Given the description of an element on the screen output the (x, y) to click on. 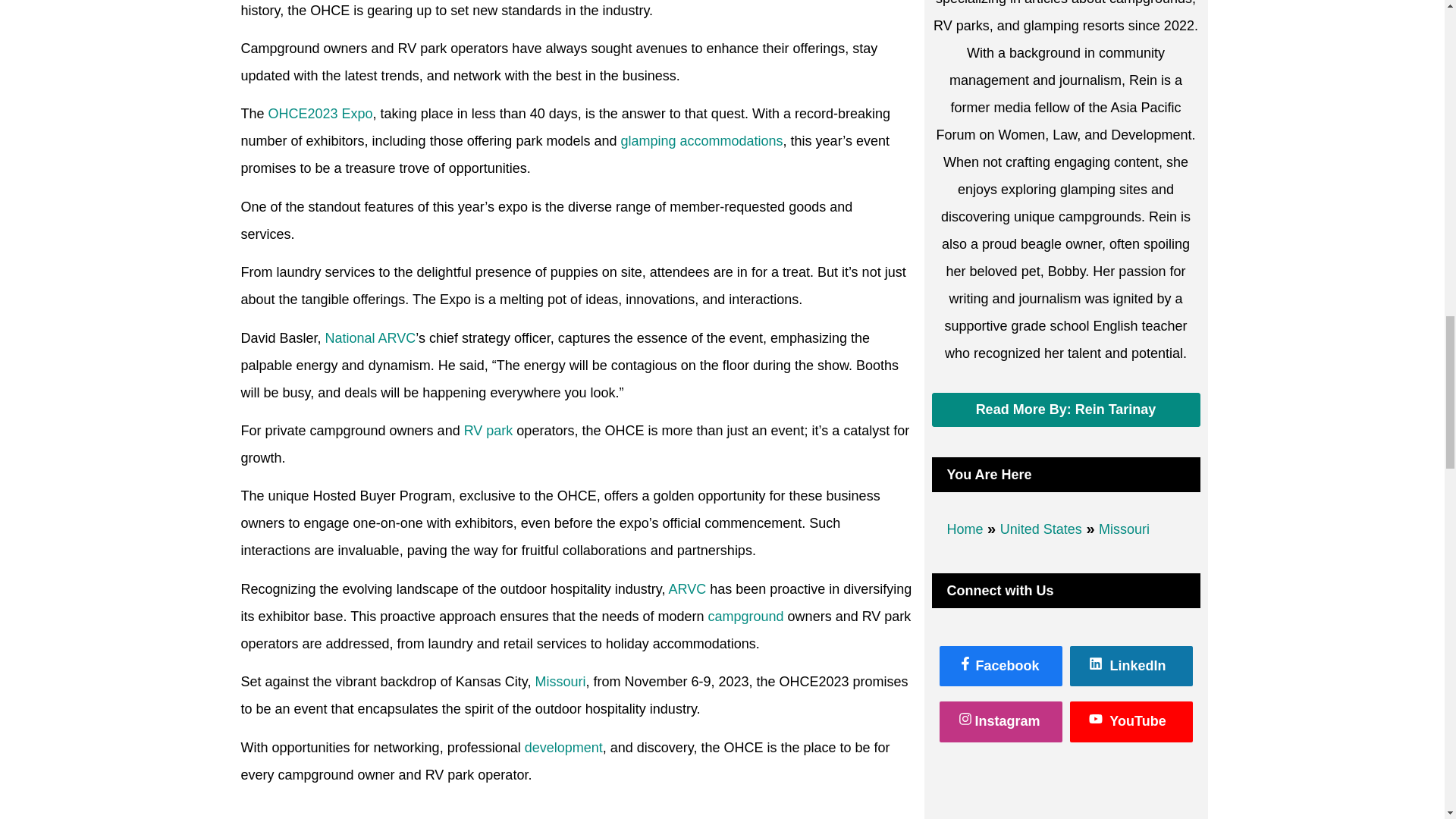
glamping accommodations (701, 140)
OHCE2023 Expo (319, 113)
